Given the description of an element on the screen output the (x, y) to click on. 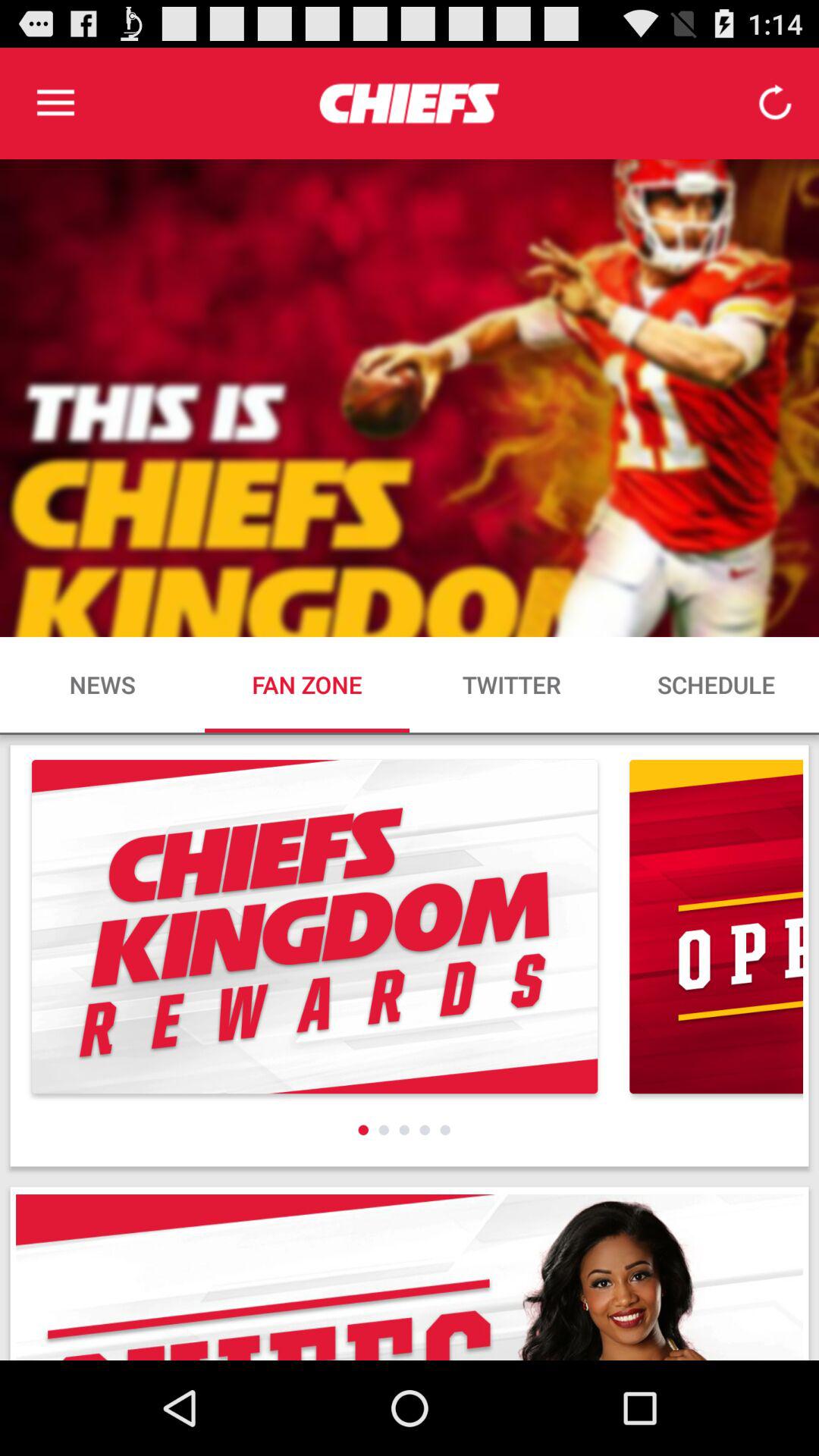
launch the icon at the top left corner (55, 103)
